Given the description of an element on the screen output the (x, y) to click on. 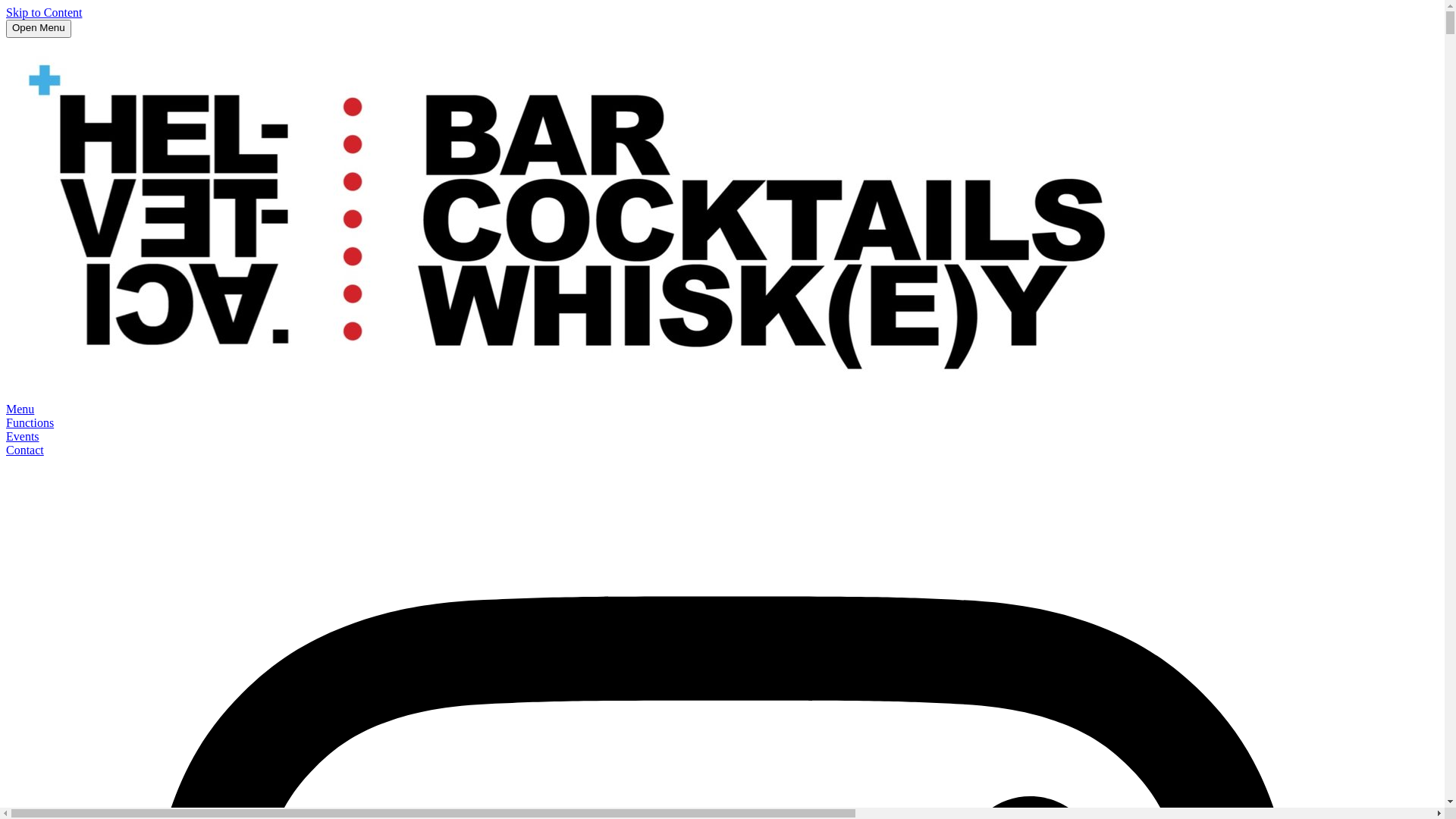
Events Element type: text (22, 435)
Functions Element type: text (29, 422)
Contact Element type: text (24, 449)
Skip to Content Element type: text (43, 12)
Open Menu Element type: text (38, 28)
Menu Element type: text (20, 408)
